Given the description of an element on the screen output the (x, y) to click on. 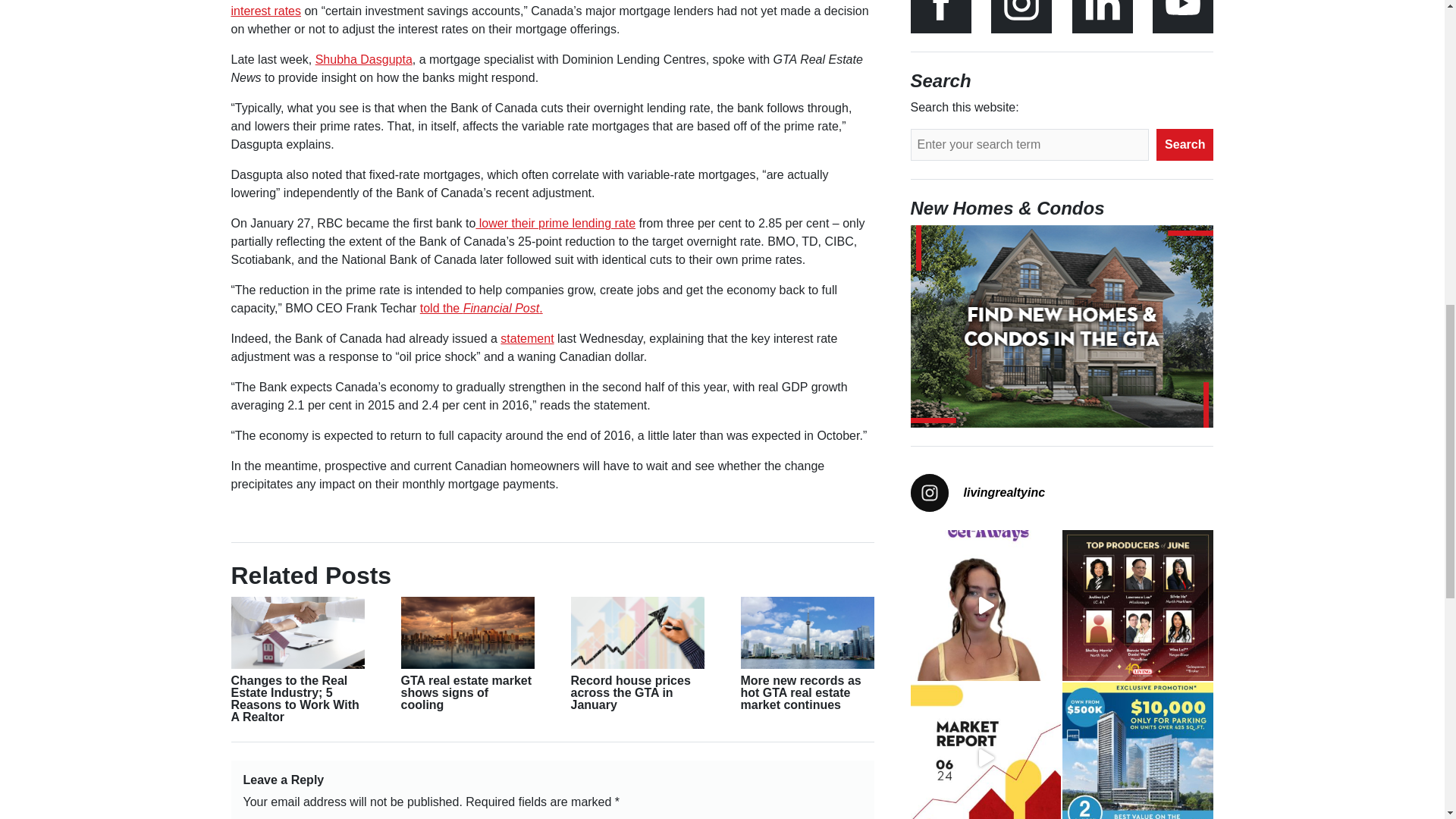
lower their prime lending rate (555, 223)
Shubha Dasgupta (363, 59)
told the Financial Post. (481, 308)
had moved to adjust interest rates (531, 8)
statement (526, 338)
GTA real estate market shows signs of cooling (465, 692)
Record house prices across the GTA in January (630, 692)
More new records as hot GTA real estate market continues (799, 692)
